Given the description of an element on the screen output the (x, y) to click on. 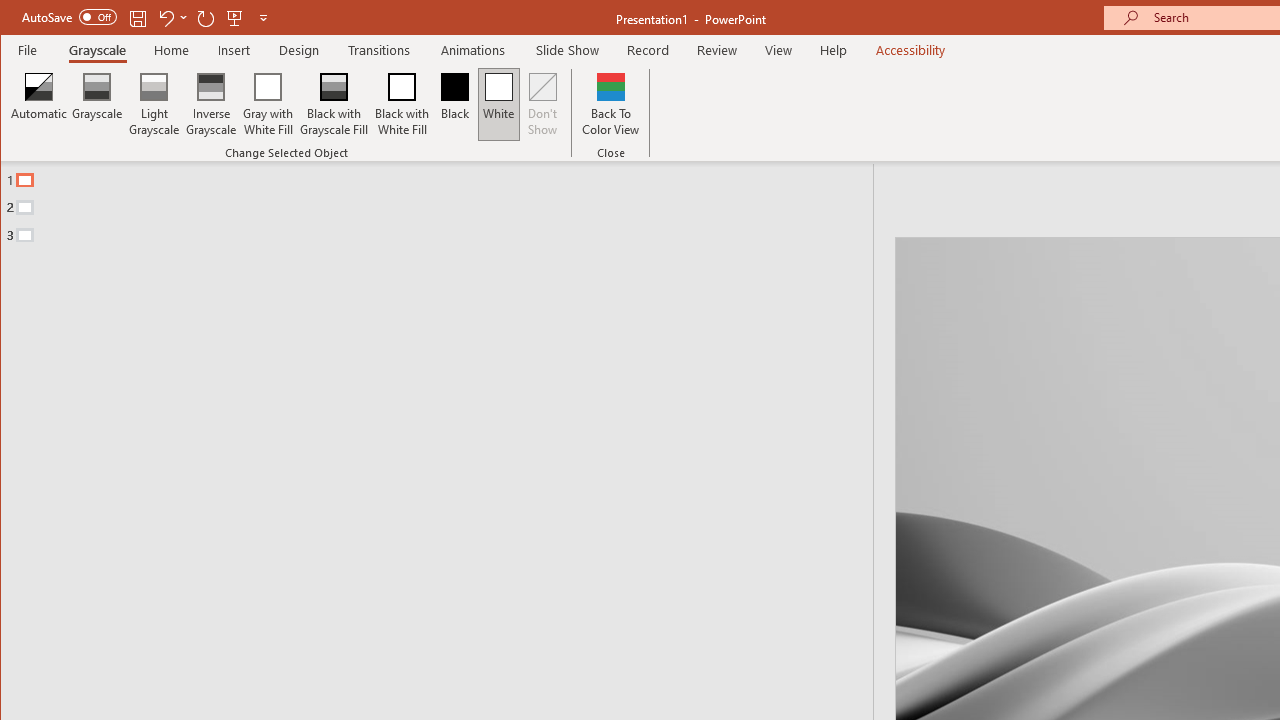
Back To Color View (610, 104)
Accessibility (910, 50)
Customize Quick Access Toolbar (263, 17)
Automatic (39, 104)
AutoSave (68, 16)
View (779, 50)
Black (454, 104)
Black with Grayscale Fill (334, 104)
Don't Show (543, 104)
Gray with White Fill (267, 104)
Grayscale (97, 104)
Outline (445, 203)
